Given the description of an element on the screen output the (x, y) to click on. 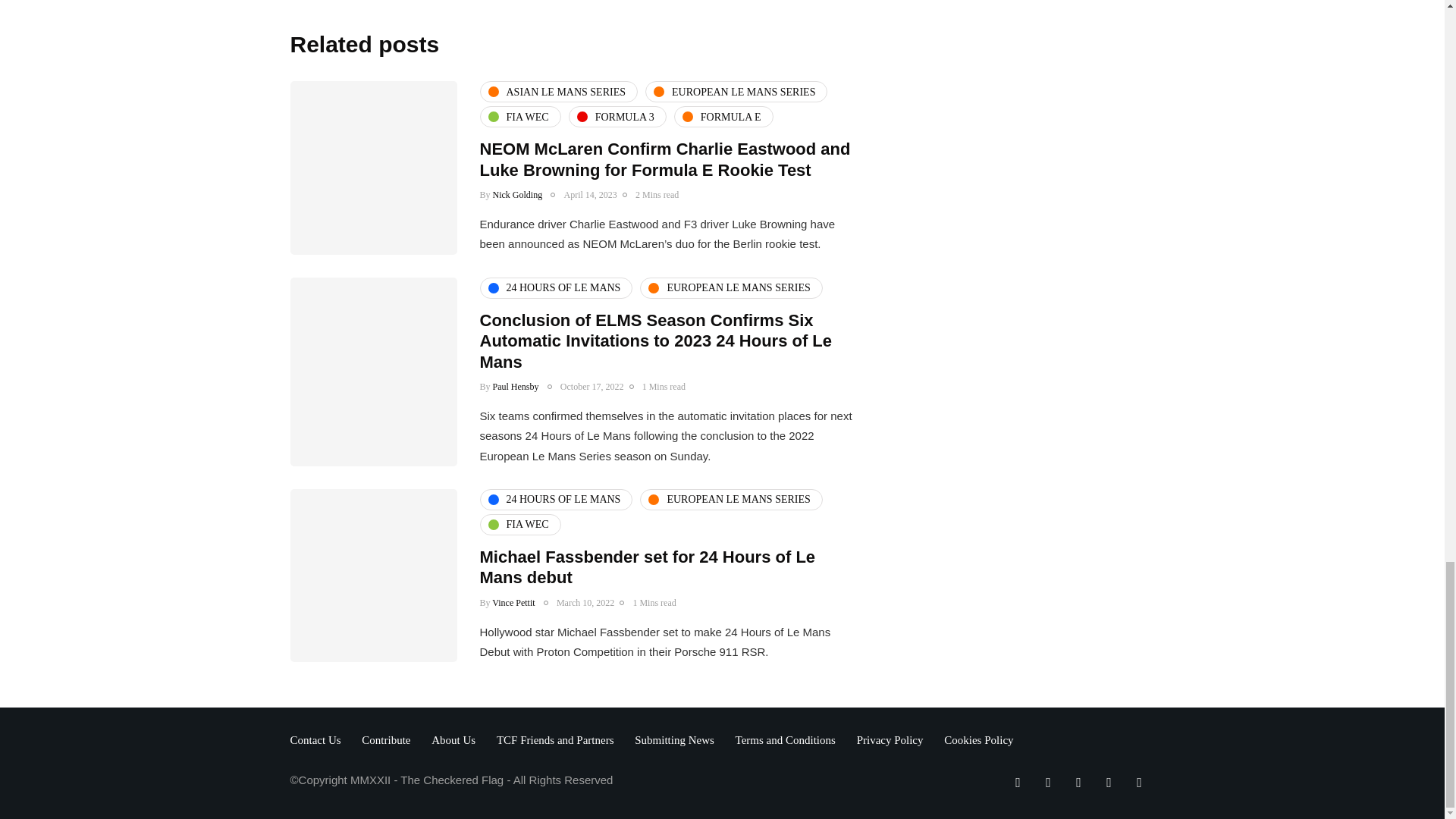
Posts by Nick Golding (518, 194)
